Given the description of an element on the screen output the (x, y) to click on. 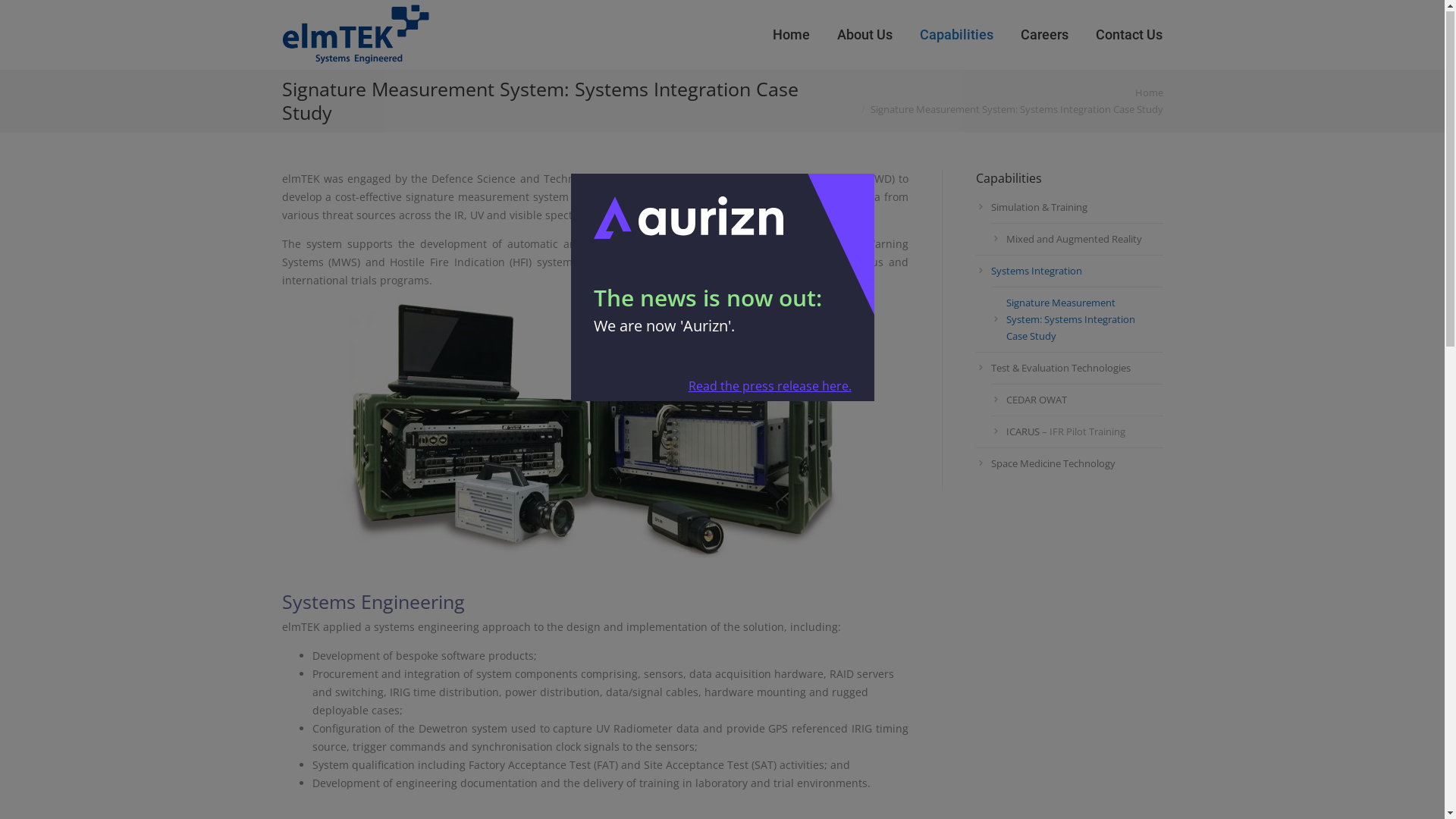
About Us Element type: text (863, 35)
Careers Element type: text (1043, 35)
Simulation & Training Element type: text (1069, 206)
Space Medicine Technology Element type: text (1069, 463)
CEDAR OWAT Element type: text (1077, 399)
Test & Evaluation Technologies Element type: text (1069, 367)
Systems Integration Element type: text (1069, 270)
Home Element type: text (1148, 93)
Mixed and Augmented Reality Element type: text (1077, 238)
Home Element type: text (790, 35)
Capabilities Element type: text (956, 35)
Contact Us Element type: text (1129, 35)
Signature Measurement System: Systems Integration Case Study Element type: text (1077, 319)
